Given the description of an element on the screen output the (x, y) to click on. 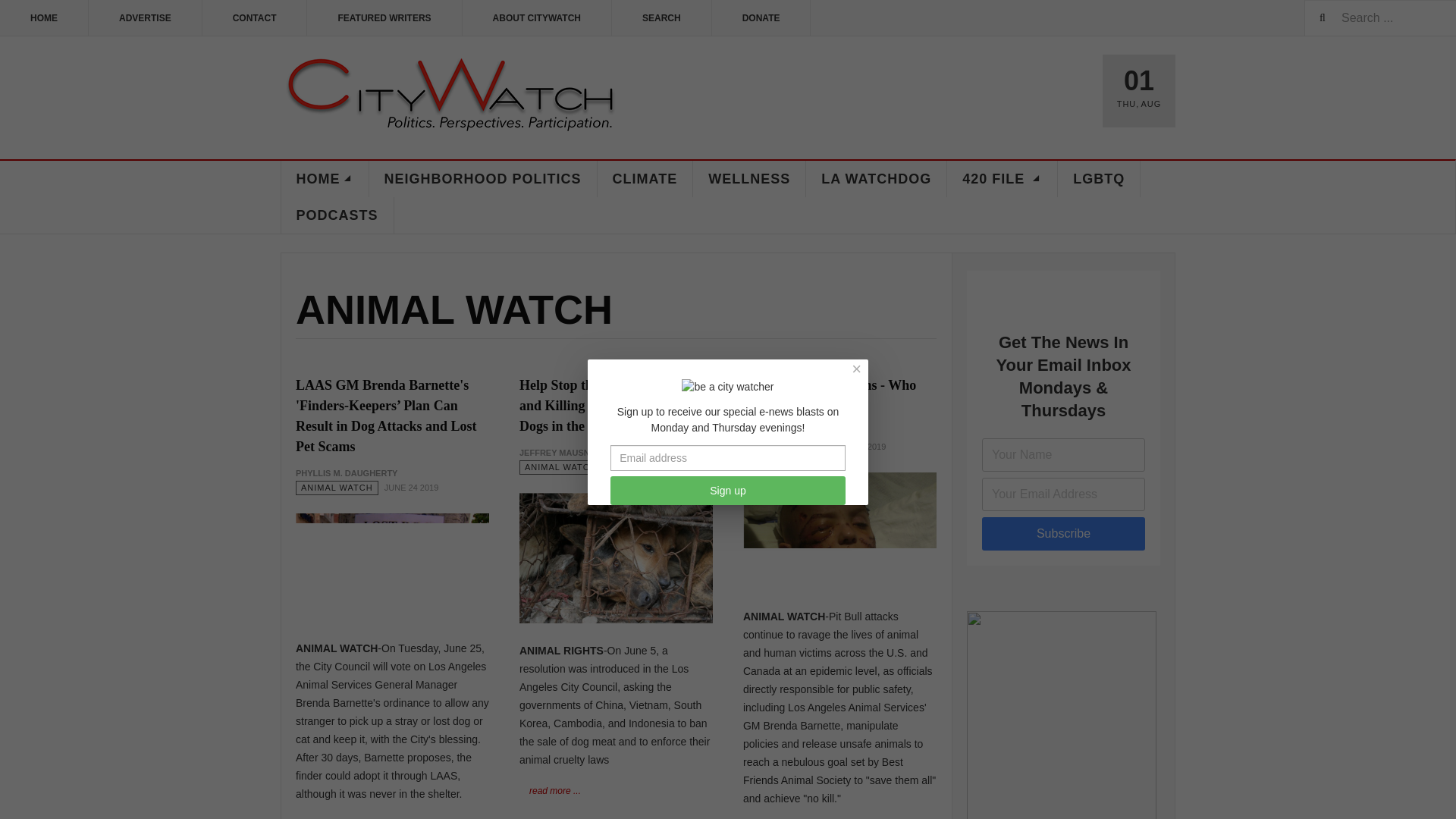
HOME (44, 18)
Written by  (793, 432)
LA WATCHDOG (876, 178)
420 FILE (1002, 178)
CityWatch Los Angeles (451, 94)
DONATE (760, 18)
Written by  (346, 473)
Category:  (560, 467)
PODCASTS (337, 215)
Category:  (783, 446)
